Given the description of an element on the screen output the (x, y) to click on. 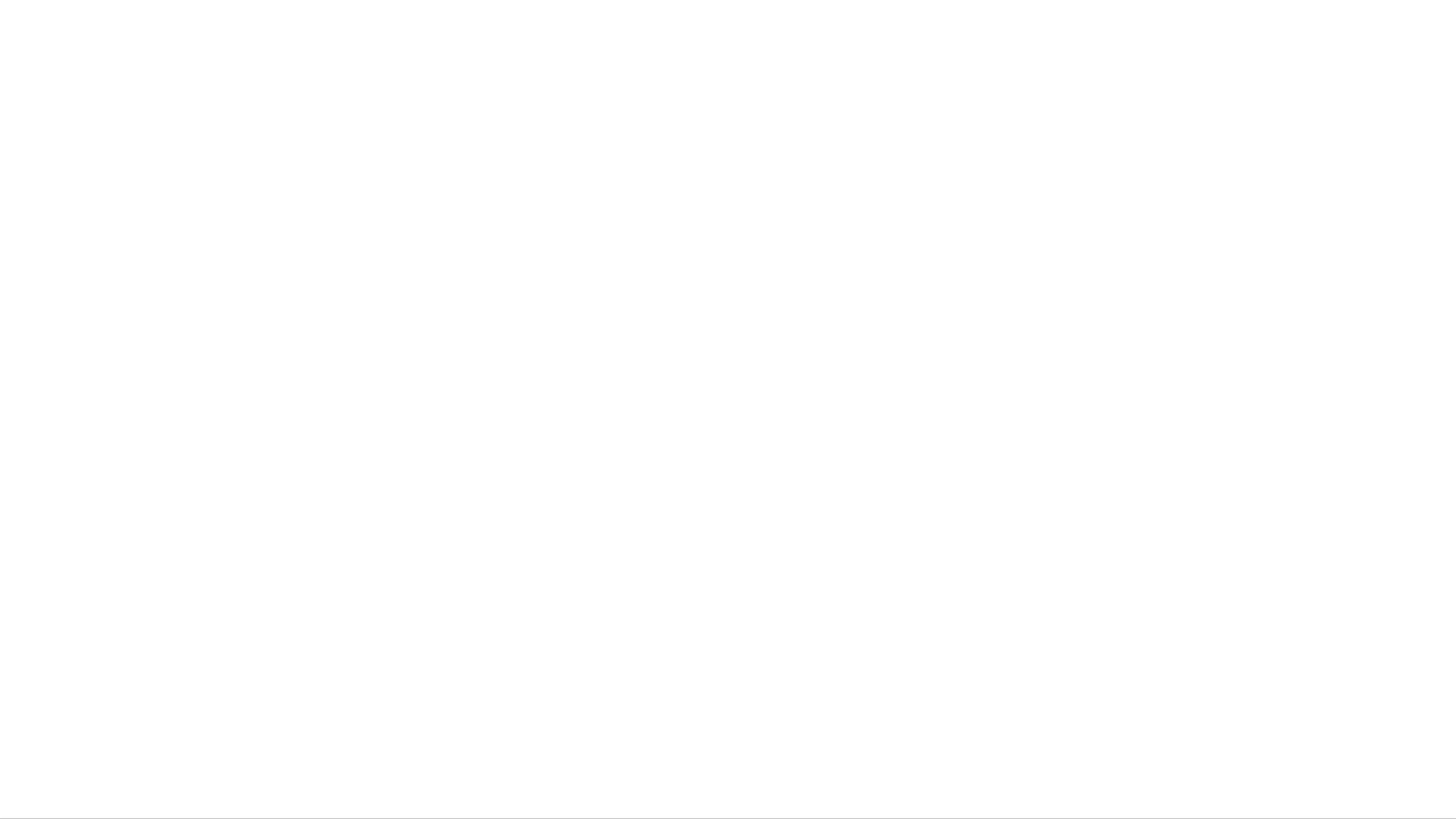
Advertisement Element type: hover (94, 56)
